Given the description of an element on the screen output the (x, y) to click on. 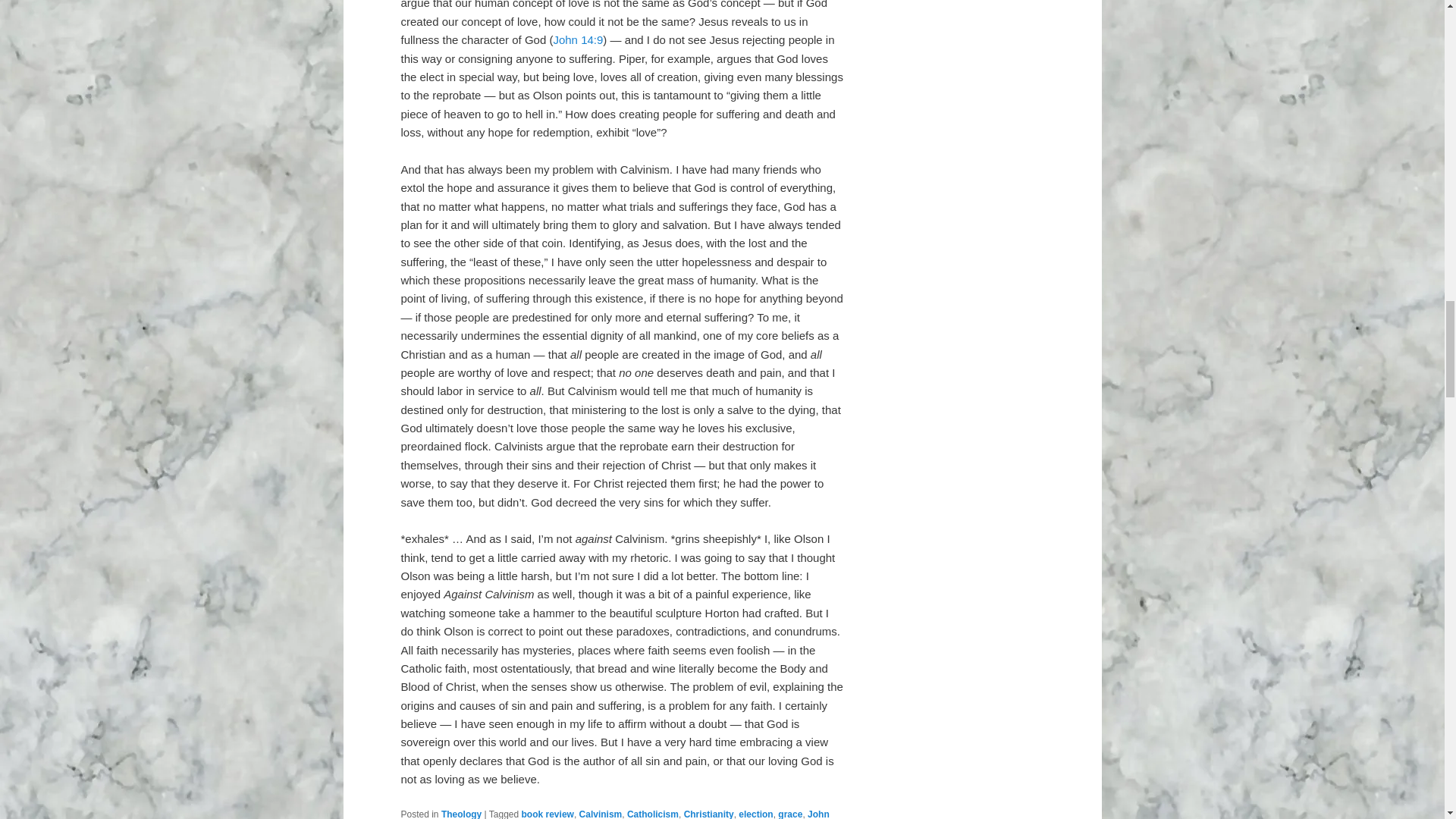
book review (547, 814)
Catholicism (652, 814)
John 14:9 (577, 39)
Calvinism (601, 814)
election (755, 814)
Christianity (708, 814)
Theology (461, 814)
grace (789, 814)
